Given the description of an element on the screen output the (x, y) to click on. 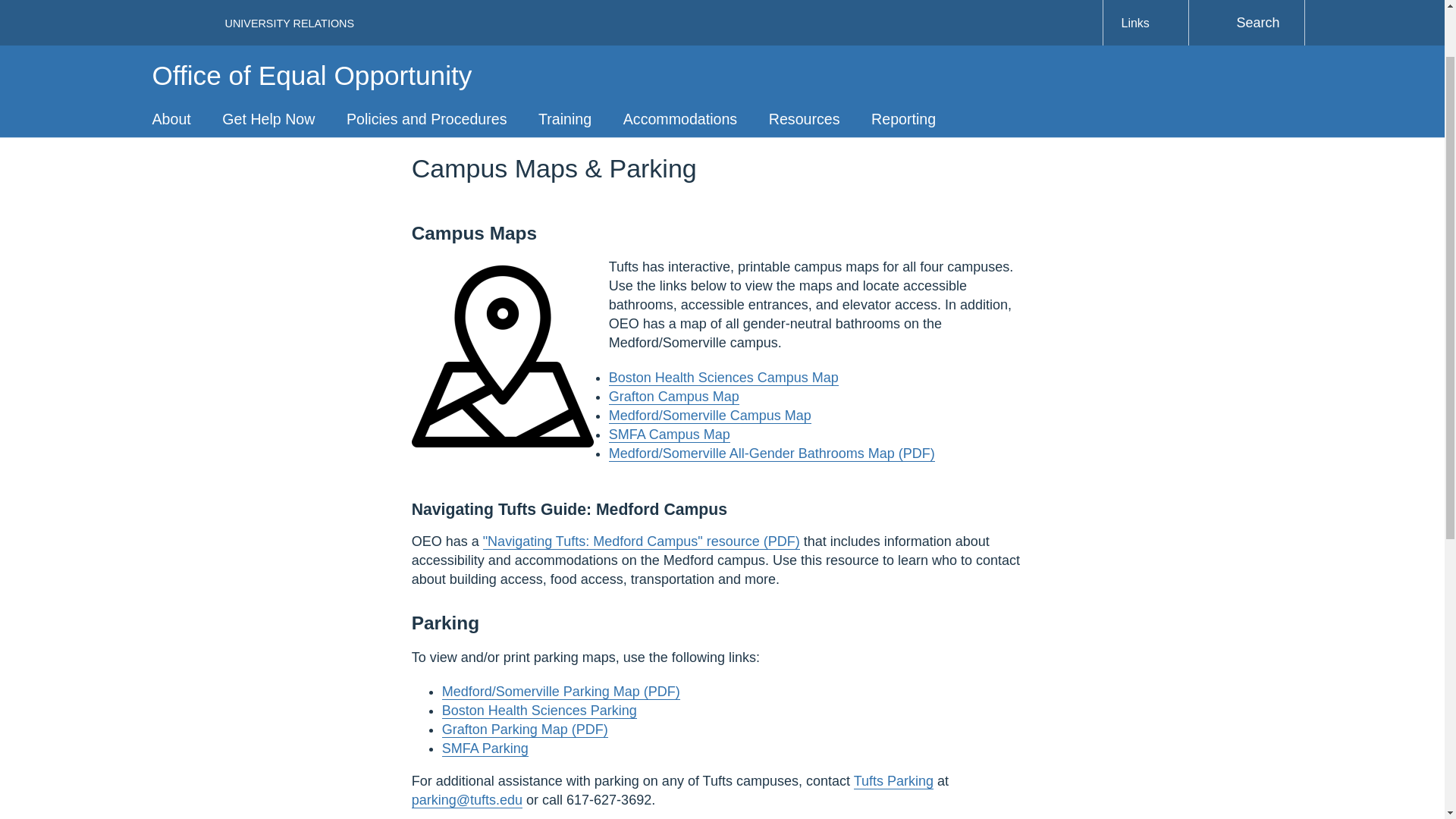
About (171, 41)
Training (564, 41)
Office of Equal Opportunity (311, 6)
Get Help Now (268, 41)
Accommodations (679, 41)
Policies and Procedures (426, 41)
